Given the description of an element on the screen output the (x, y) to click on. 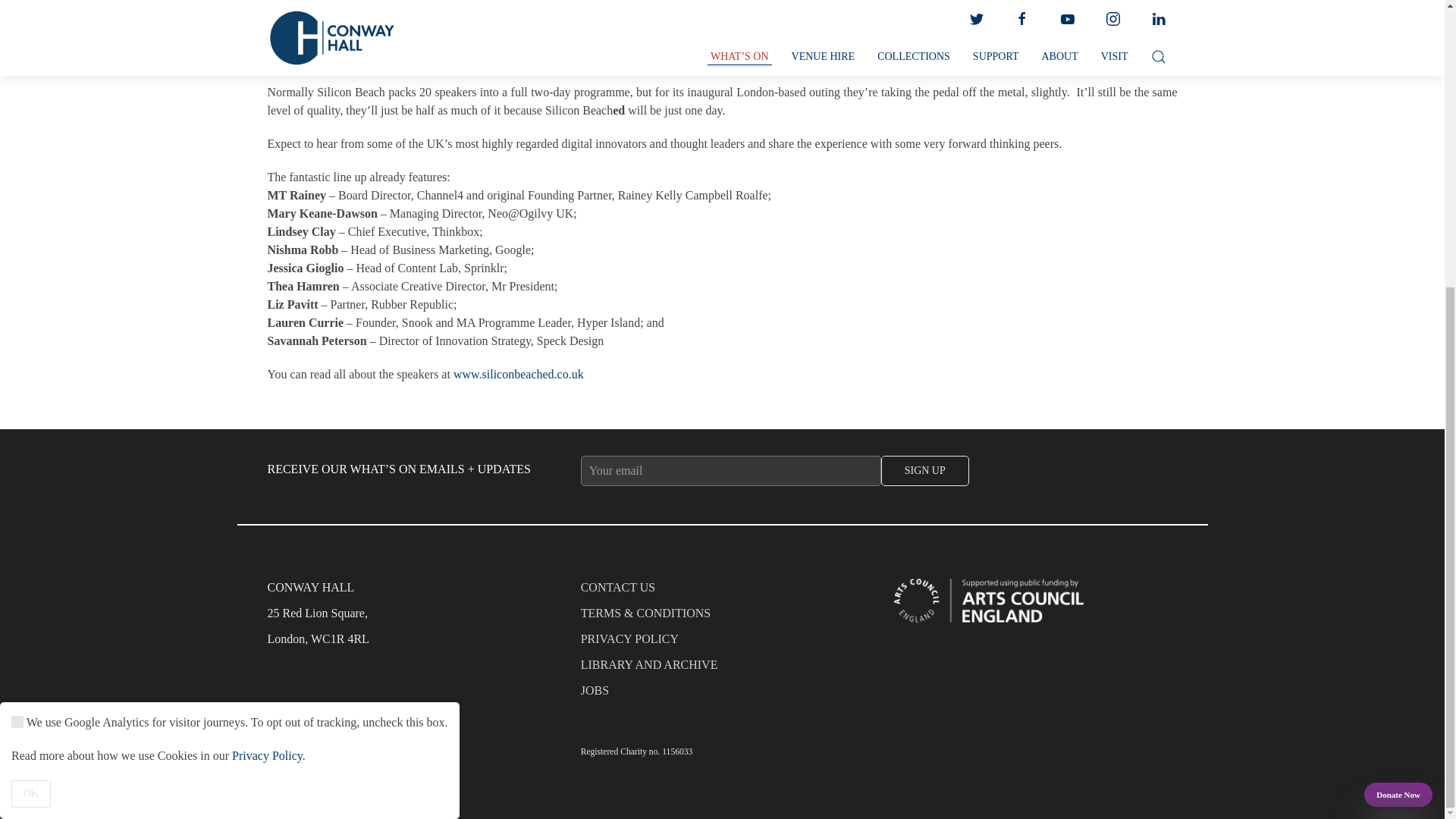
CONTACT US (722, 591)
JOBS (722, 694)
Silicon Beached, Feb 2016 (517, 373)
Sign Up (924, 470)
PRIVACY POLICY (722, 642)
Privacy Policy (266, 319)
OK (30, 358)
Sign Up (924, 470)
Donate Now (1398, 359)
LIBRARY AND ARCHIVE (722, 668)
on (17, 286)
www.siliconbeached.co.uk (517, 373)
